Given the description of an element on the screen output the (x, y) to click on. 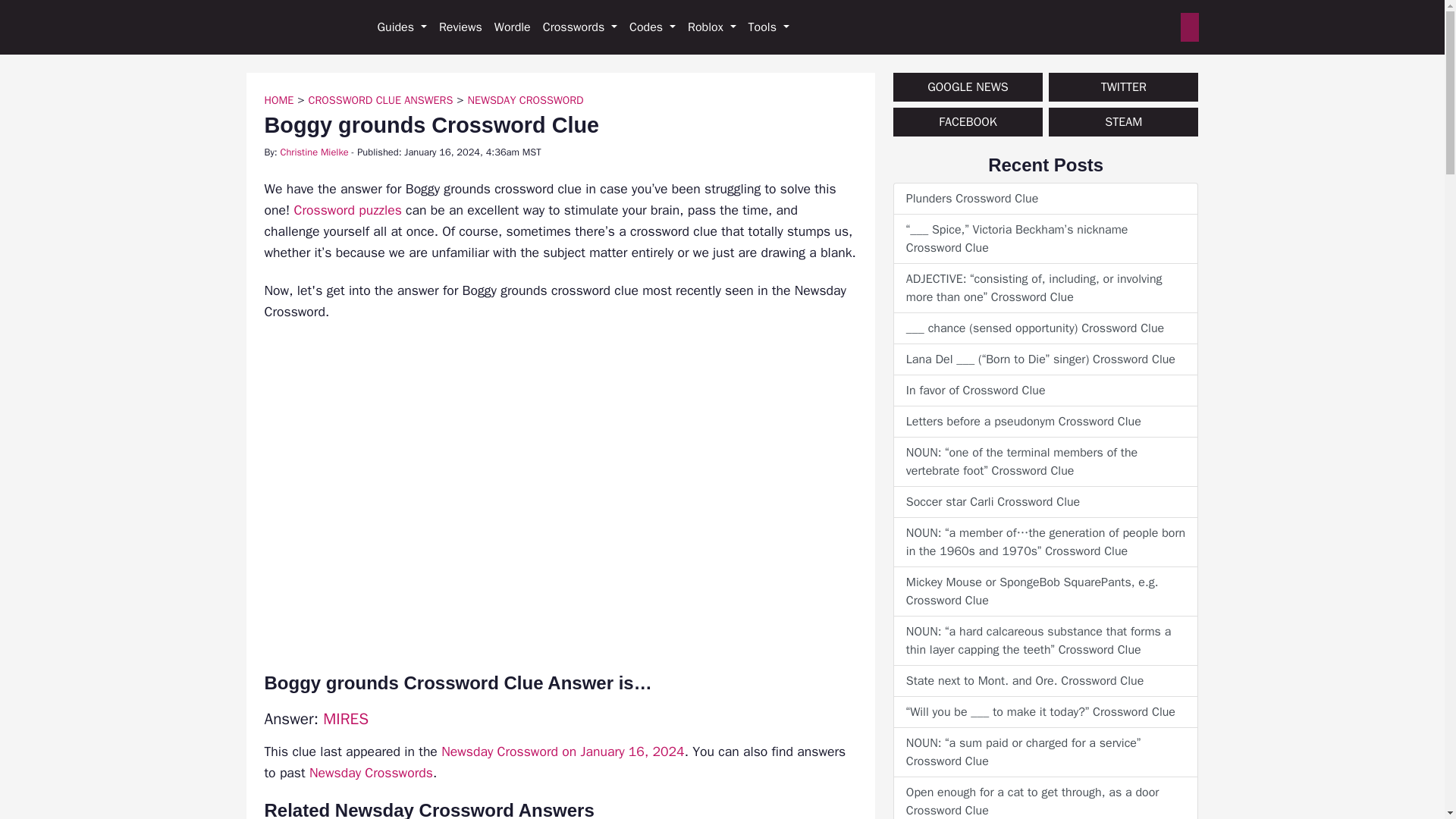
Wordle (512, 27)
Roblox (711, 27)
Try Hard Guides (298, 27)
Guides (401, 27)
Reviews (459, 27)
Codes (652, 27)
Crosswords (580, 27)
